Given the description of an element on the screen output the (x, y) to click on. 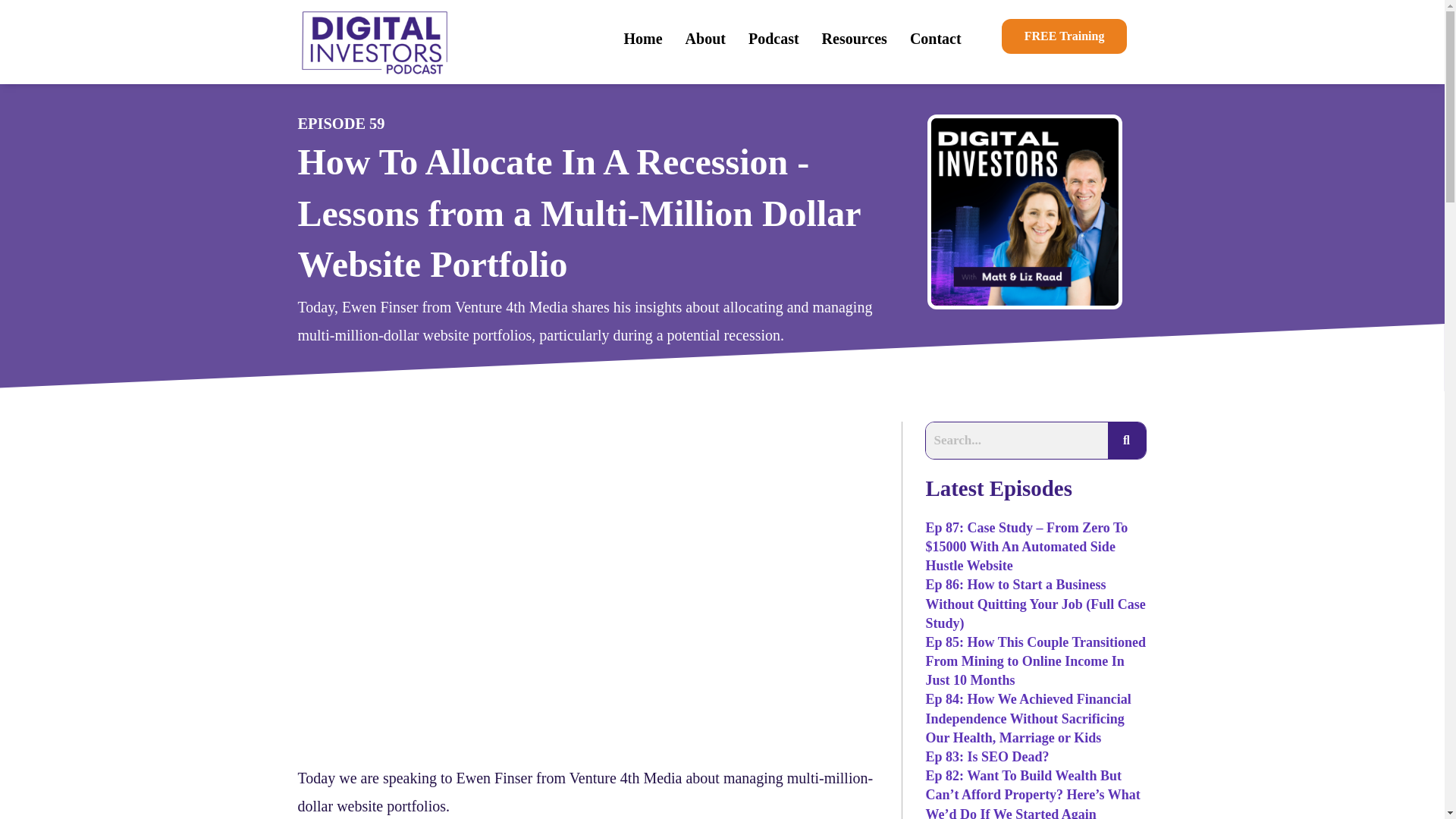
Podcast (773, 38)
Resources (854, 38)
About (705, 38)
Ep 83: Is SEO Dead? (986, 756)
Home (641, 38)
Search (1016, 440)
FREE Training (1063, 36)
Contact (935, 38)
